Given the description of an element on the screen output the (x, y) to click on. 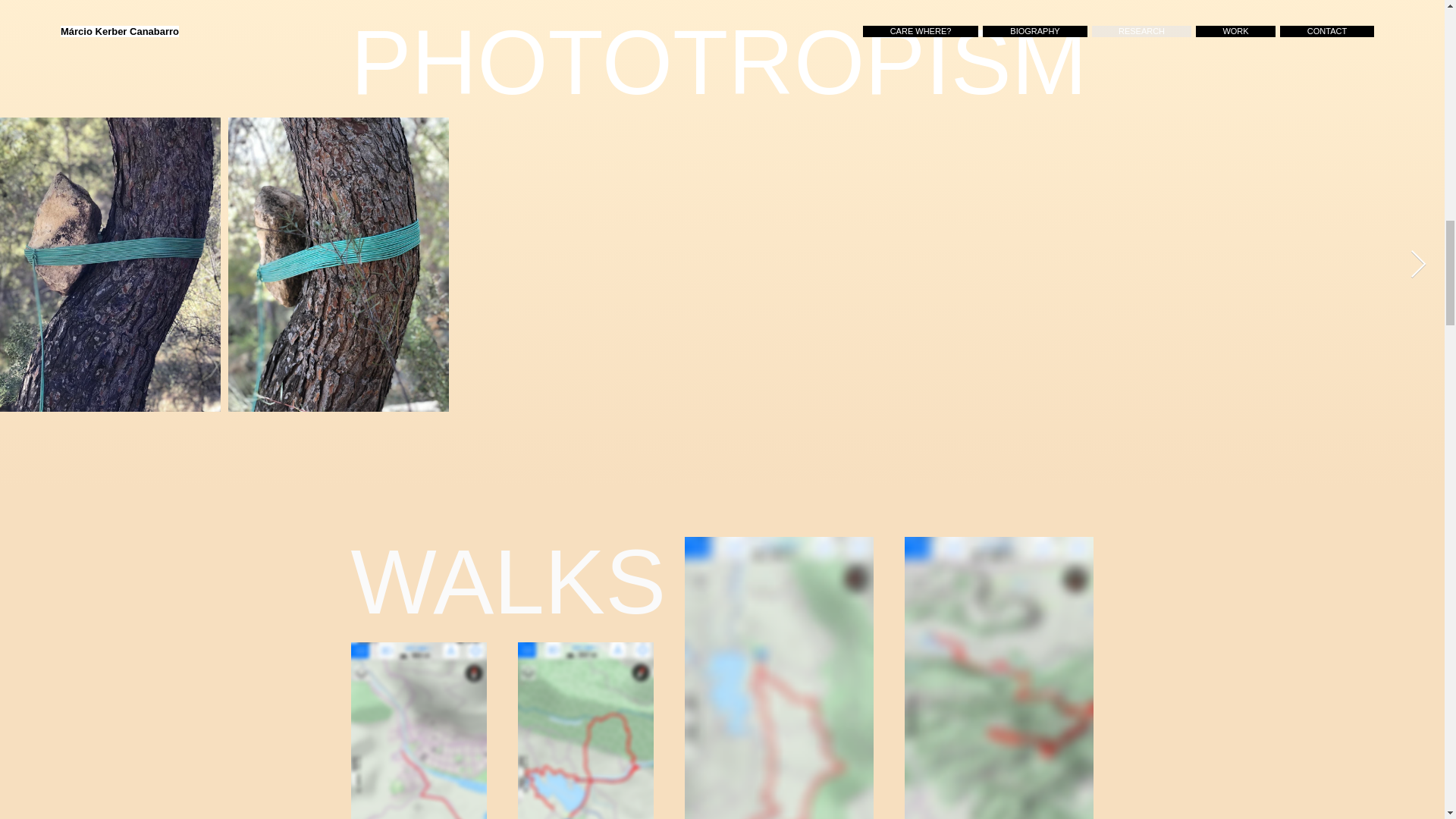
A81852DD-43EB-4596-B33B-35996DB010BA.png (998, 678)
